Given the description of an element on the screen output the (x, y) to click on. 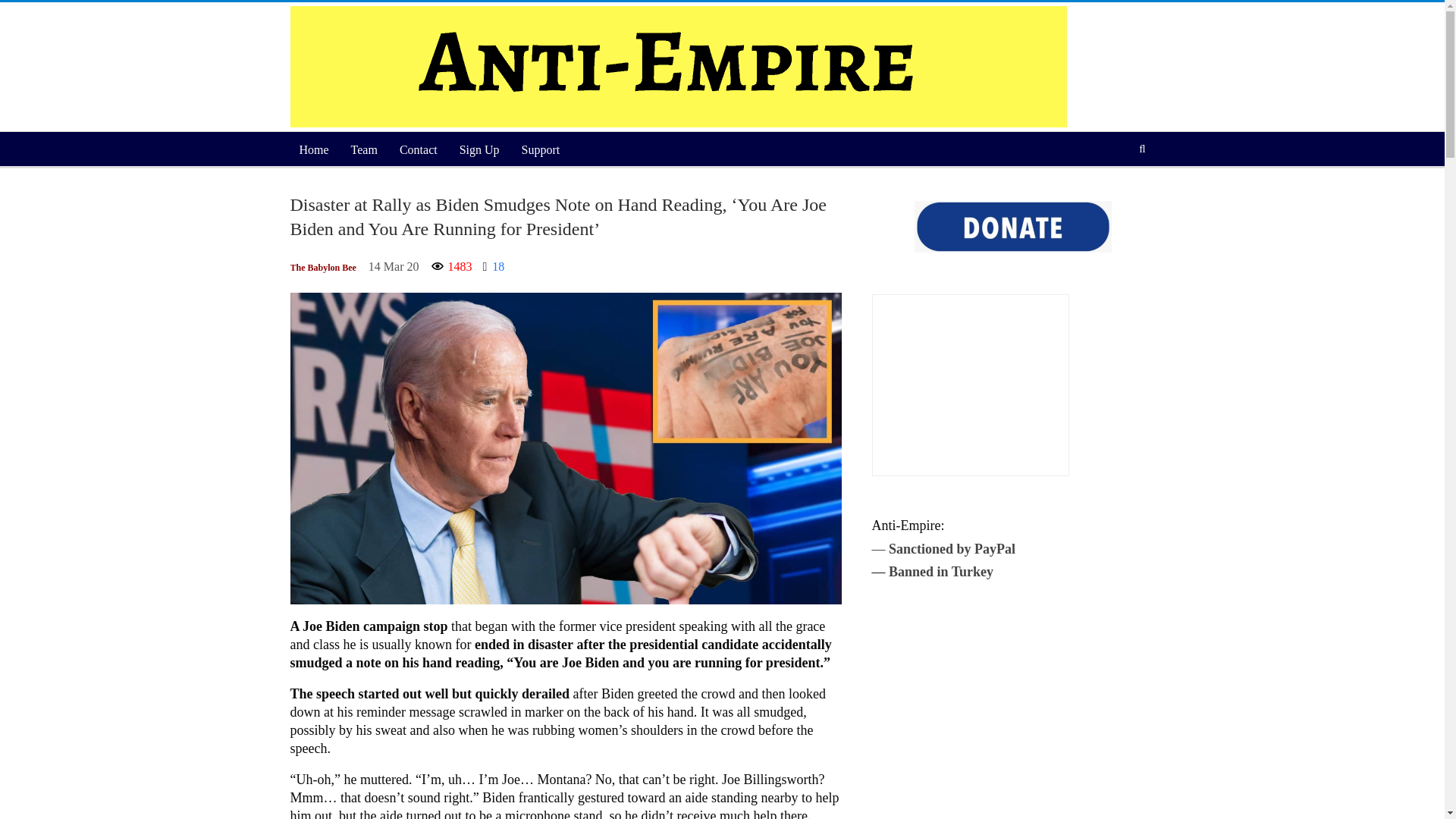
Support (540, 149)
Sign Up (478, 149)
Home (313, 149)
Contact (418, 149)
18 (494, 266)
The Babylon Bee (322, 267)
Browse Author Articles (322, 267)
Team (364, 149)
